Given the description of an element on the screen output the (x, y) to click on. 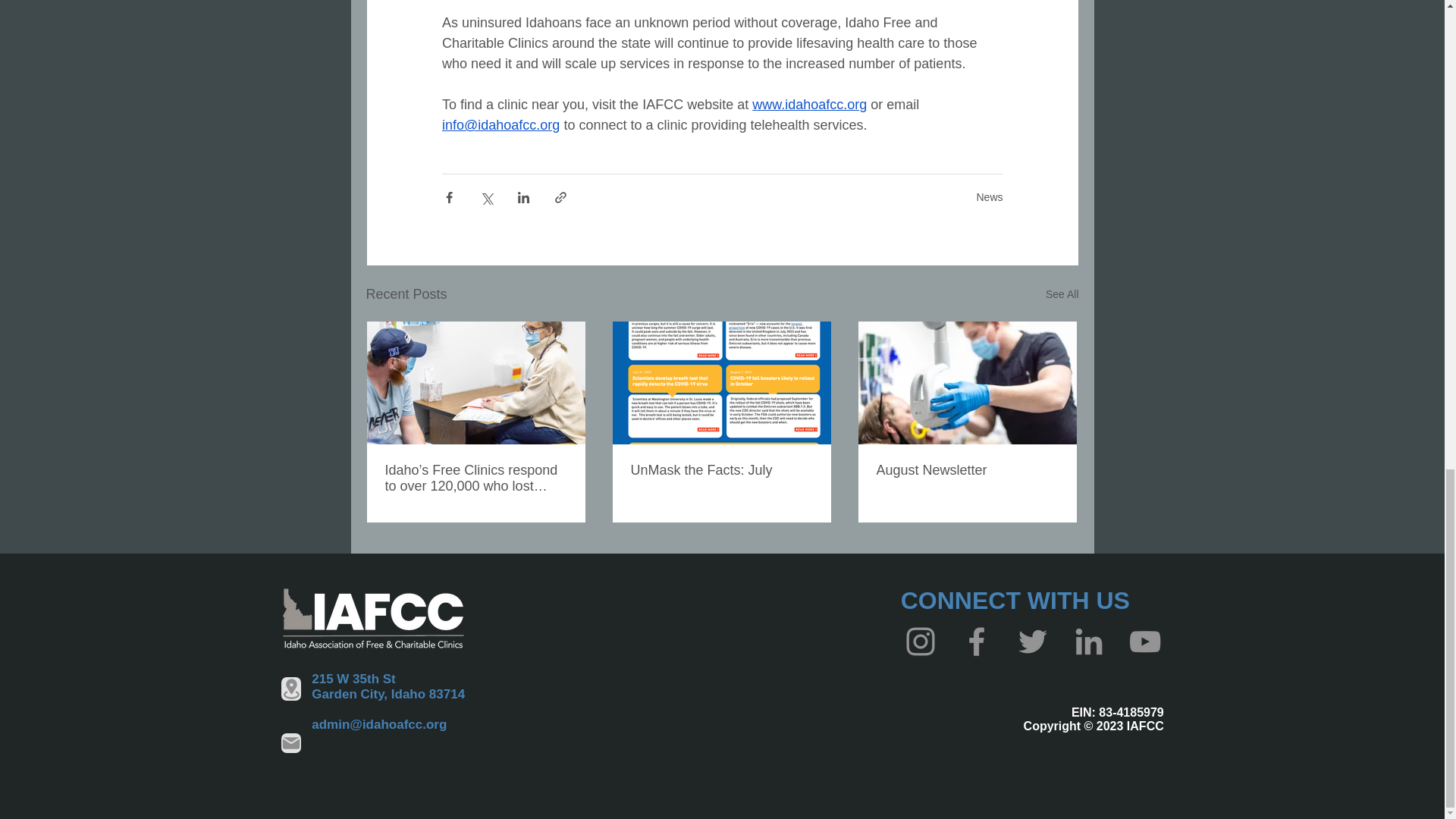
www.idahoafcc.org (809, 104)
News (989, 196)
See All (1061, 294)
